Given the description of an element on the screen output the (x, y) to click on. 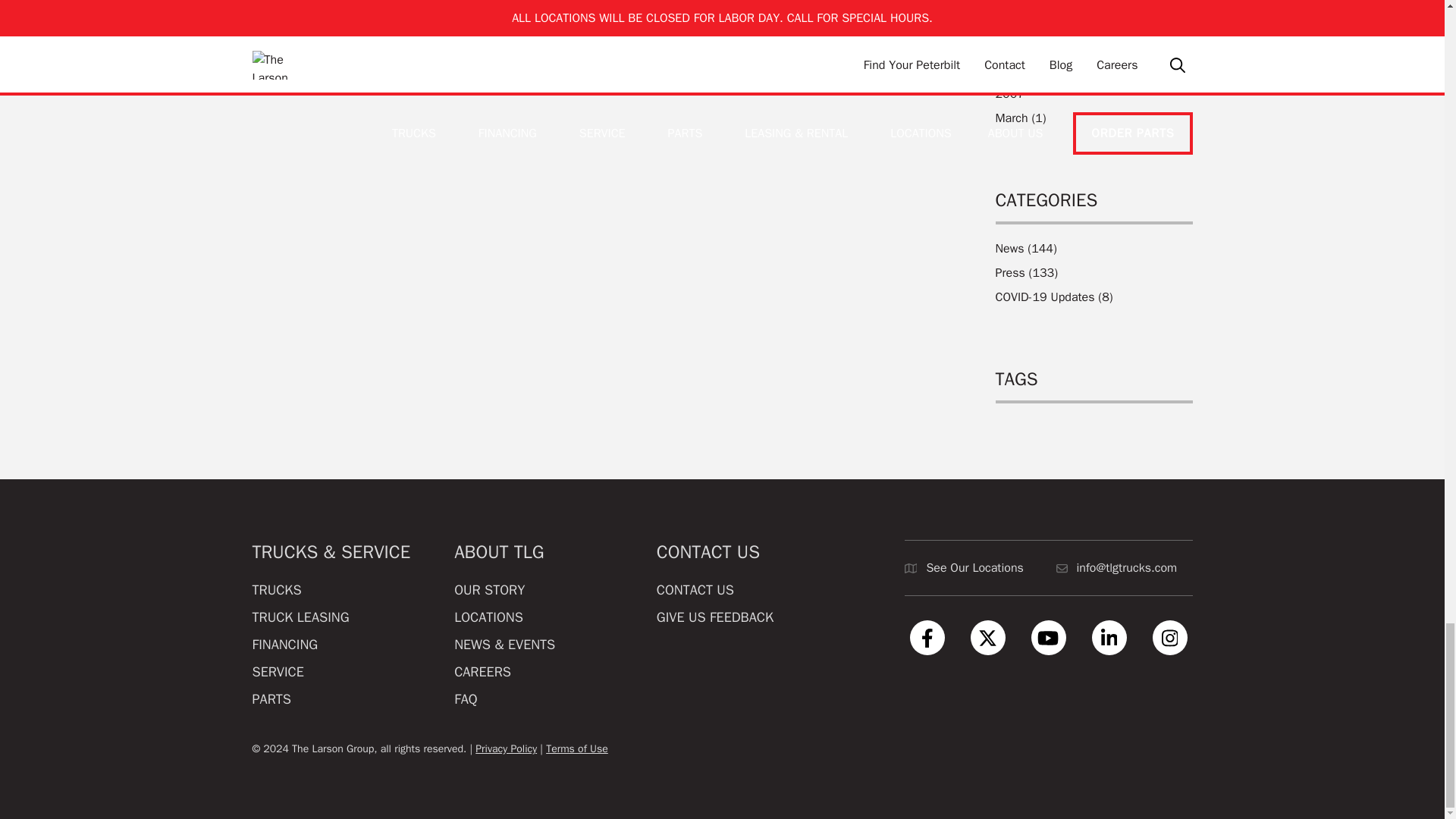
Privacy Policy (577, 748)
Parts (270, 699)
Truck Leasing (300, 617)
Service (276, 671)
Our Story (489, 589)
Contact Us (694, 589)
FAQ (465, 699)
Financing (284, 644)
Trucks (276, 589)
Careers (482, 671)
